Given the description of an element on the screen output the (x, y) to click on. 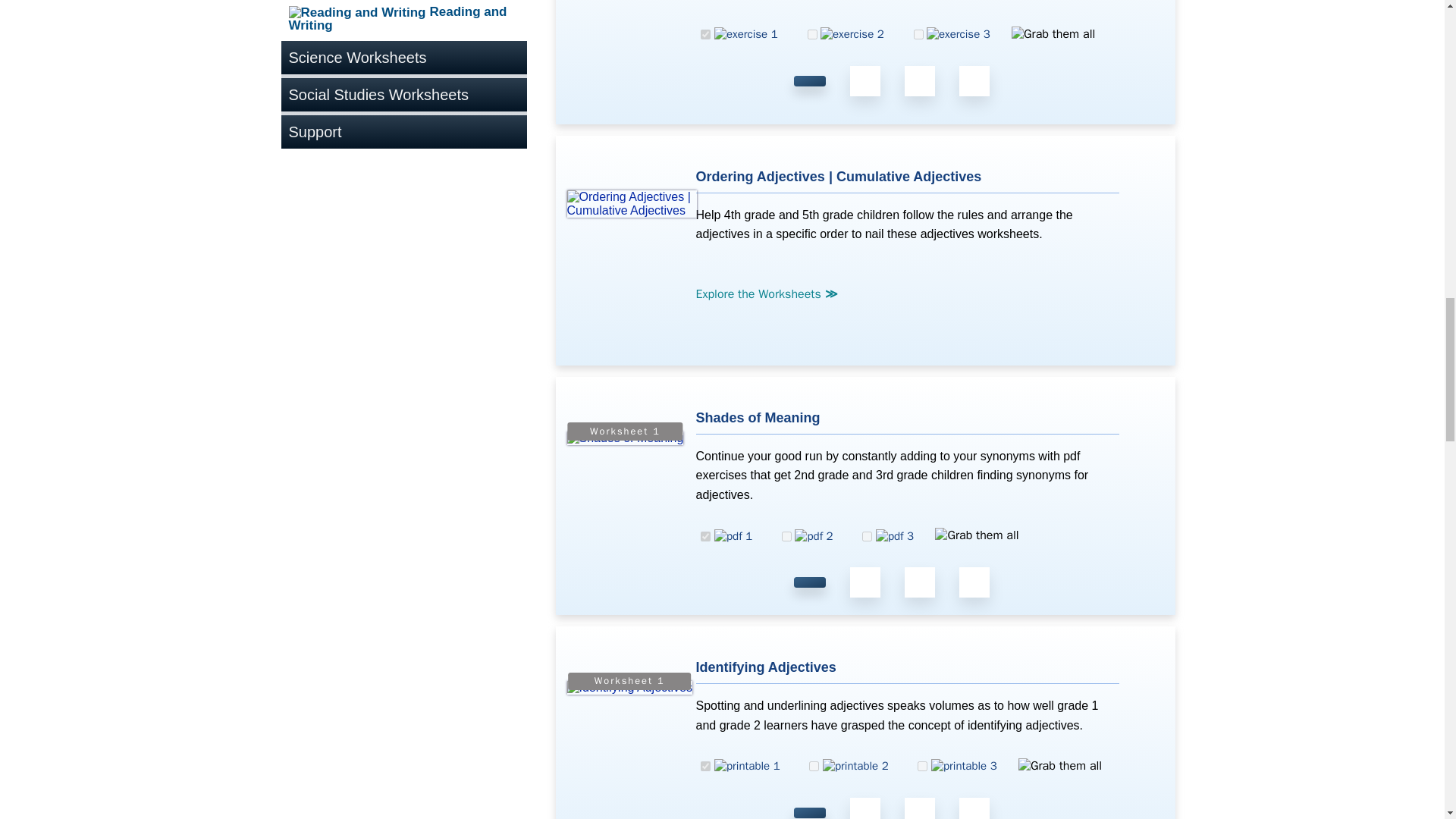
on (705, 766)
on (786, 536)
on (811, 34)
on (866, 536)
on (705, 536)
on (705, 34)
on (918, 34)
